Given the description of an element on the screen output the (x, y) to click on. 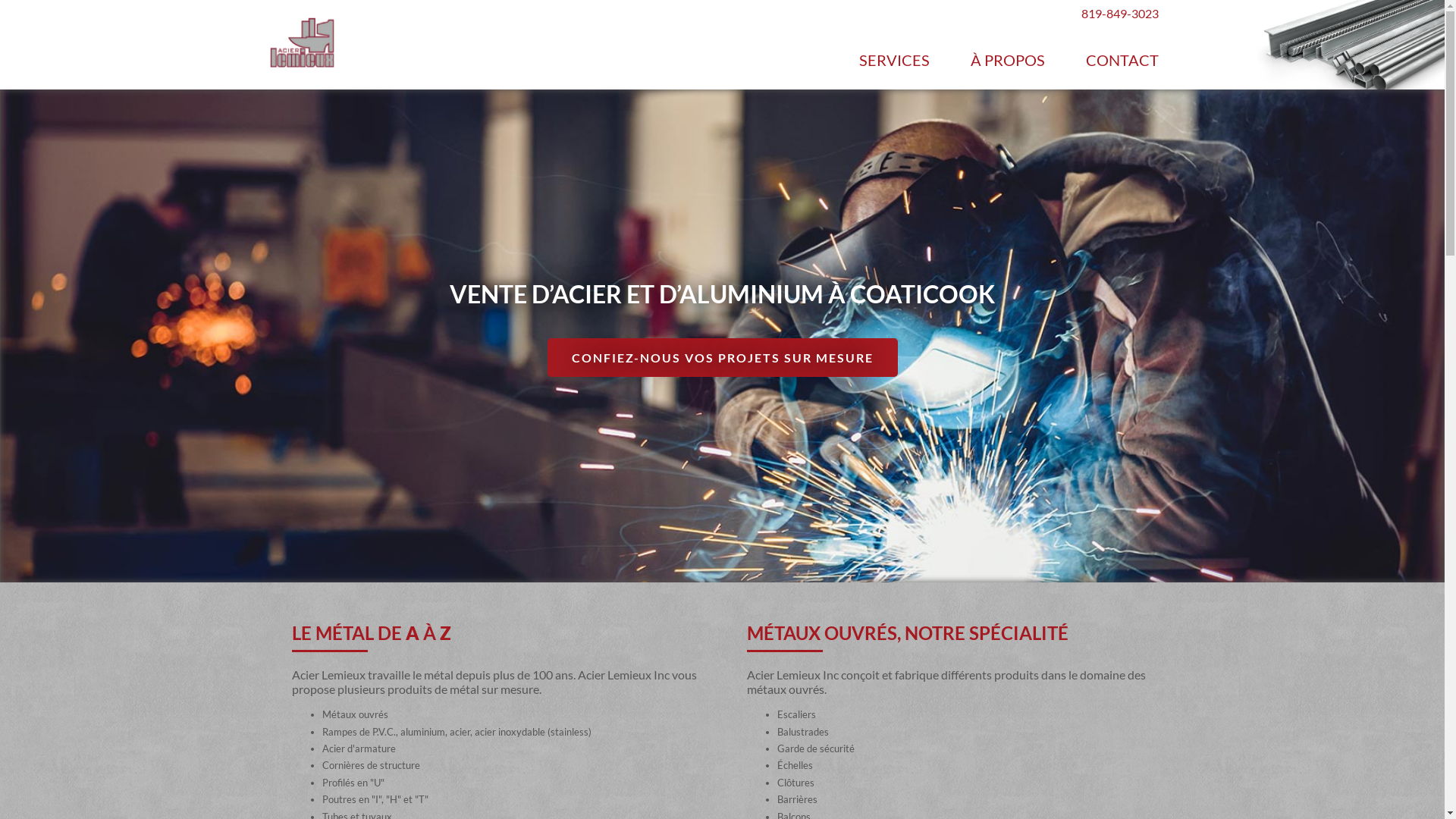
819-849-3023 Element type: text (1119, 12)
CONTACT Element type: text (1121, 59)
SERVICES Element type: text (894, 59)
CONFIEZ-NOUS VOS PROJETS SUR MESURE Element type: text (722, 357)
